Given the description of an element on the screen output the (x, y) to click on. 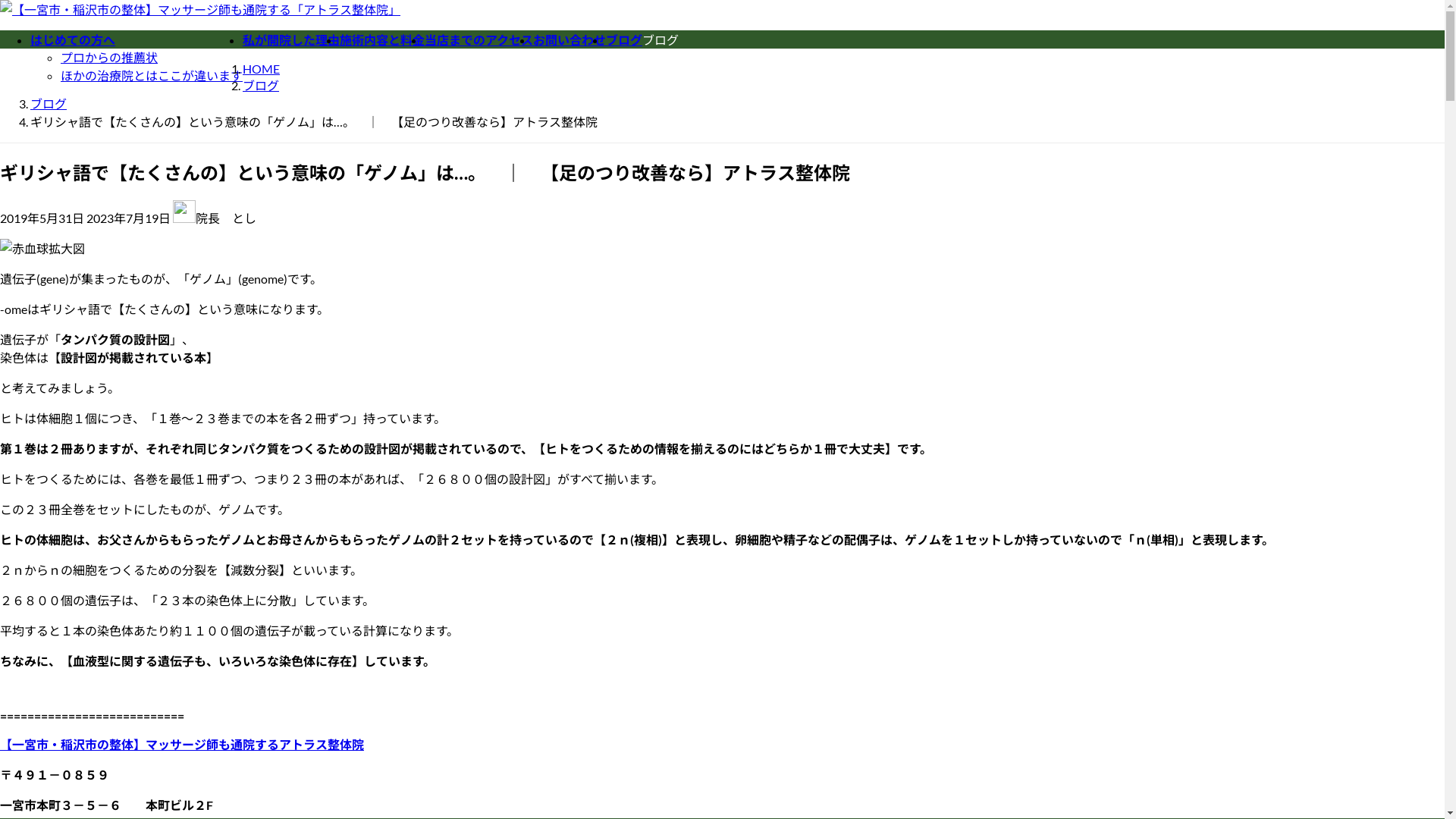
HOME Element type: text (260, 68)
